Given the description of an element on the screen output the (x, y) to click on. 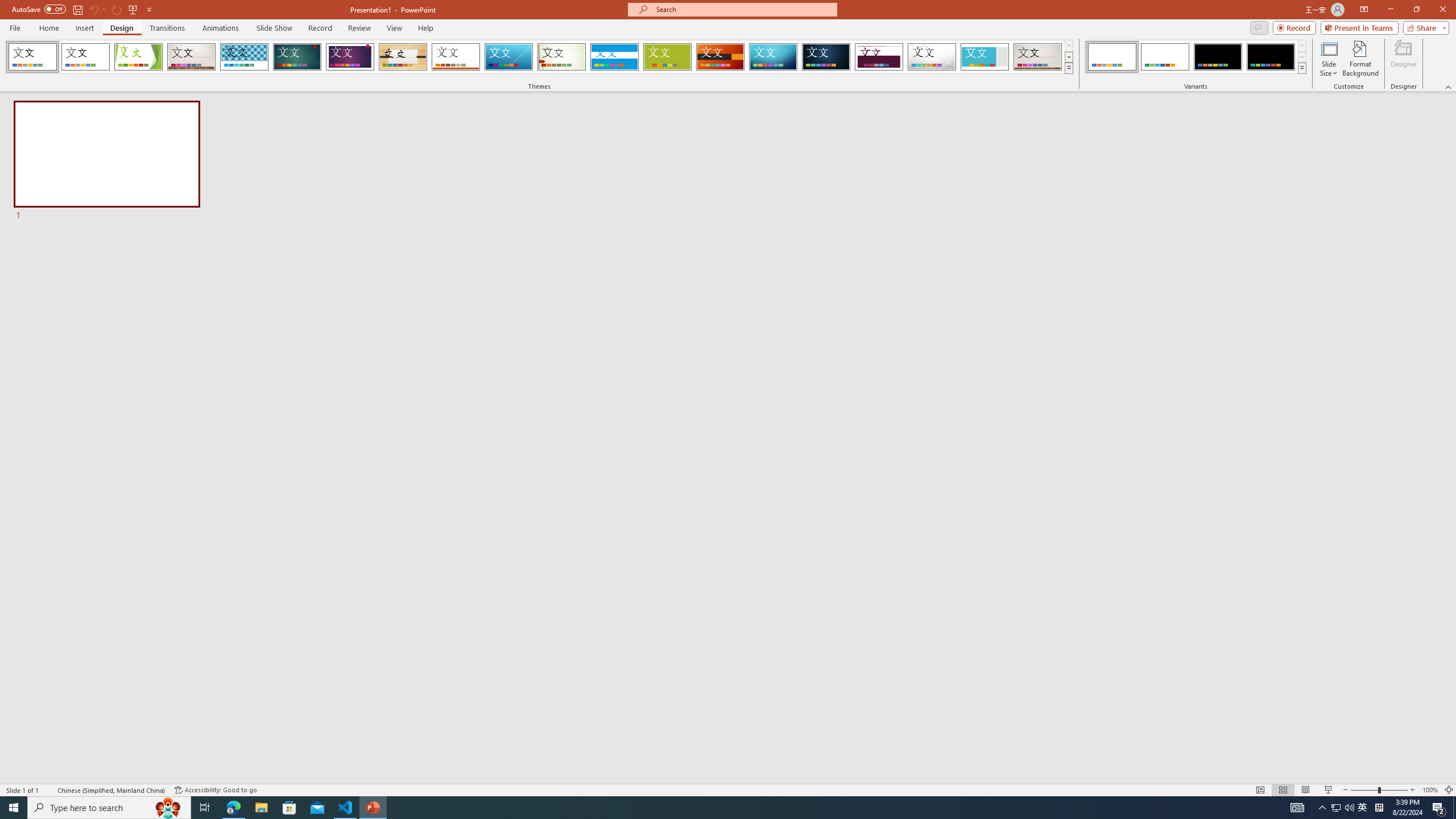
Slide Size (1328, 58)
Gallery (191, 56)
Zoom 100% (1430, 790)
Slice Loading Preview... (508, 56)
Spell Check  (49, 790)
Damask Loading Preview... (826, 56)
Wisp Loading Preview... (561, 56)
